Given the description of an element on the screen output the (x, y) to click on. 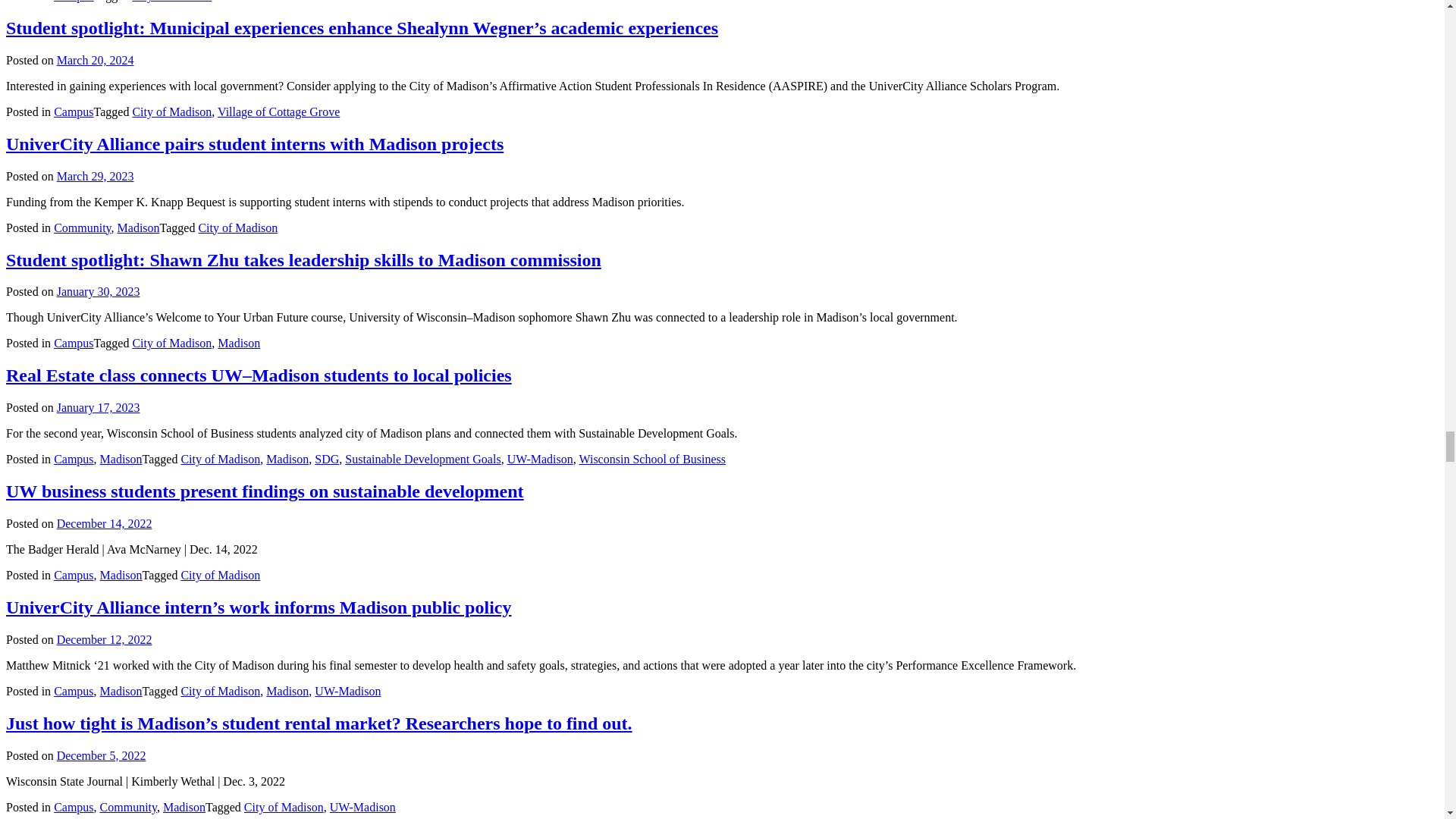
March 20, 2024 (94, 60)
City of Madison (171, 1)
Campus (73, 1)
Campus (73, 111)
